Given the description of an element on the screen output the (x, y) to click on. 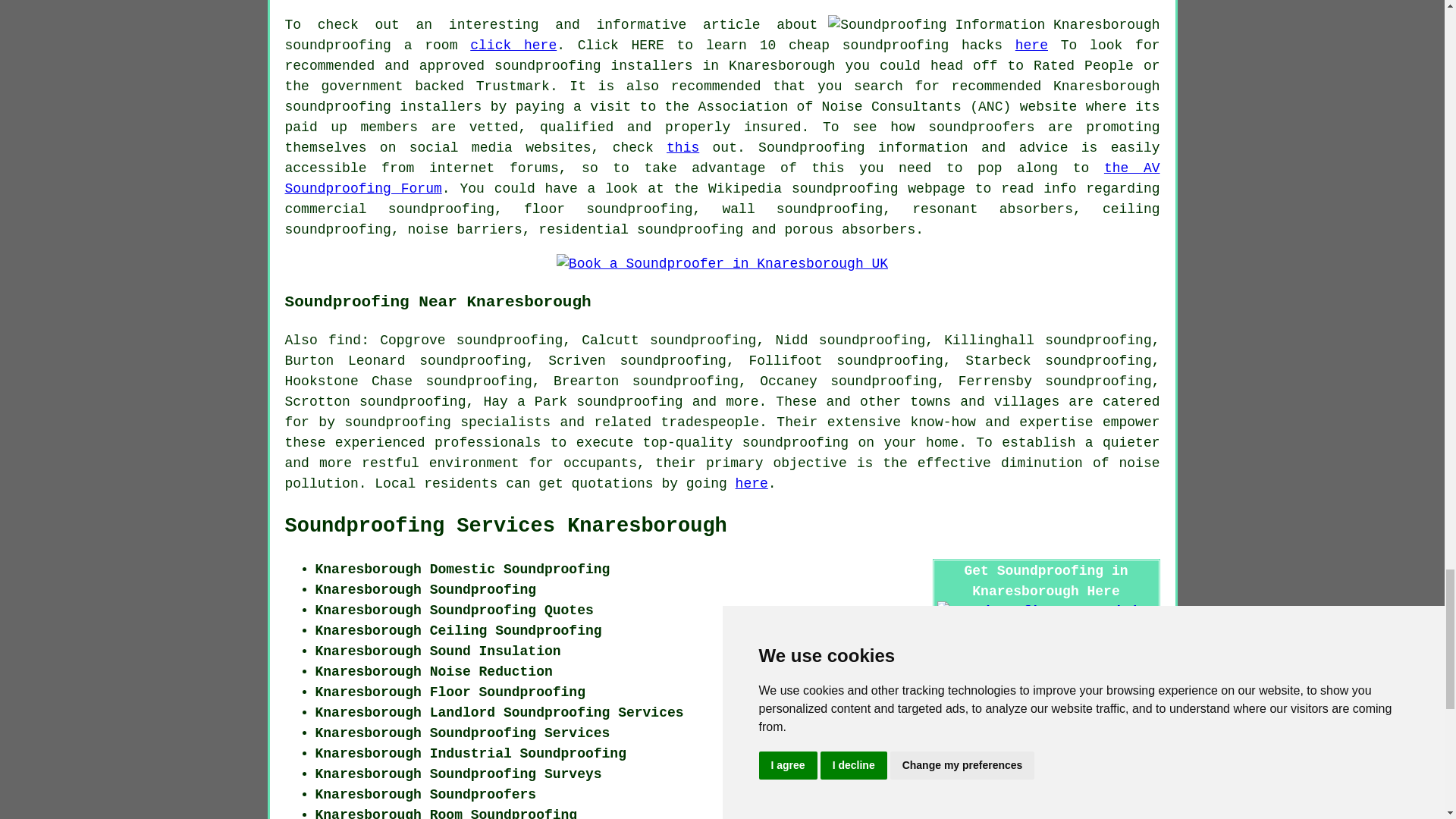
noise pollution (722, 473)
soundproofing specialists (446, 421)
Soundproofing Advice Knaresborough (993, 25)
Book a Soundproofer in Knaresborough UK (722, 263)
